Given the description of an element on the screen output the (x, y) to click on. 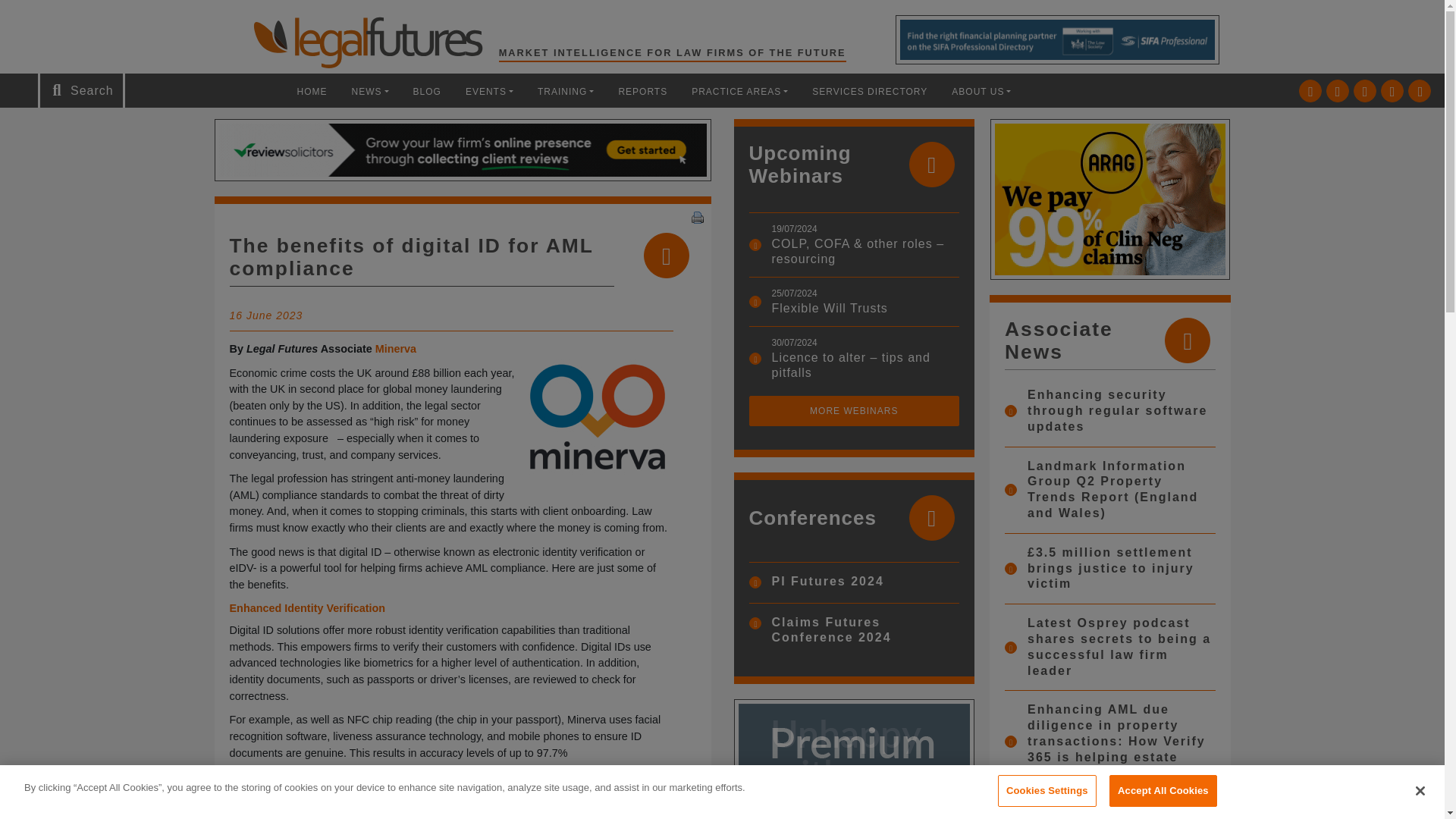
HOME (312, 91)
See Legal Futures on Twitter (1310, 90)
EVENTS (488, 91)
REPORTS (642, 91)
SERVICES DIRECTORY (869, 91)
Search (51, 16)
TRAINING (565, 91)
See Legal Futures on Linkedin-in (1337, 90)
Events (488, 91)
See Legal Futures on Youtube (1391, 90)
PRACTICE AREAS (739, 91)
Blog (426, 91)
Home (312, 91)
See Legal Futures on Facebook-f (1364, 90)
See Legal Futures on Rss (1419, 90)
